Given the description of an element on the screen output the (x, y) to click on. 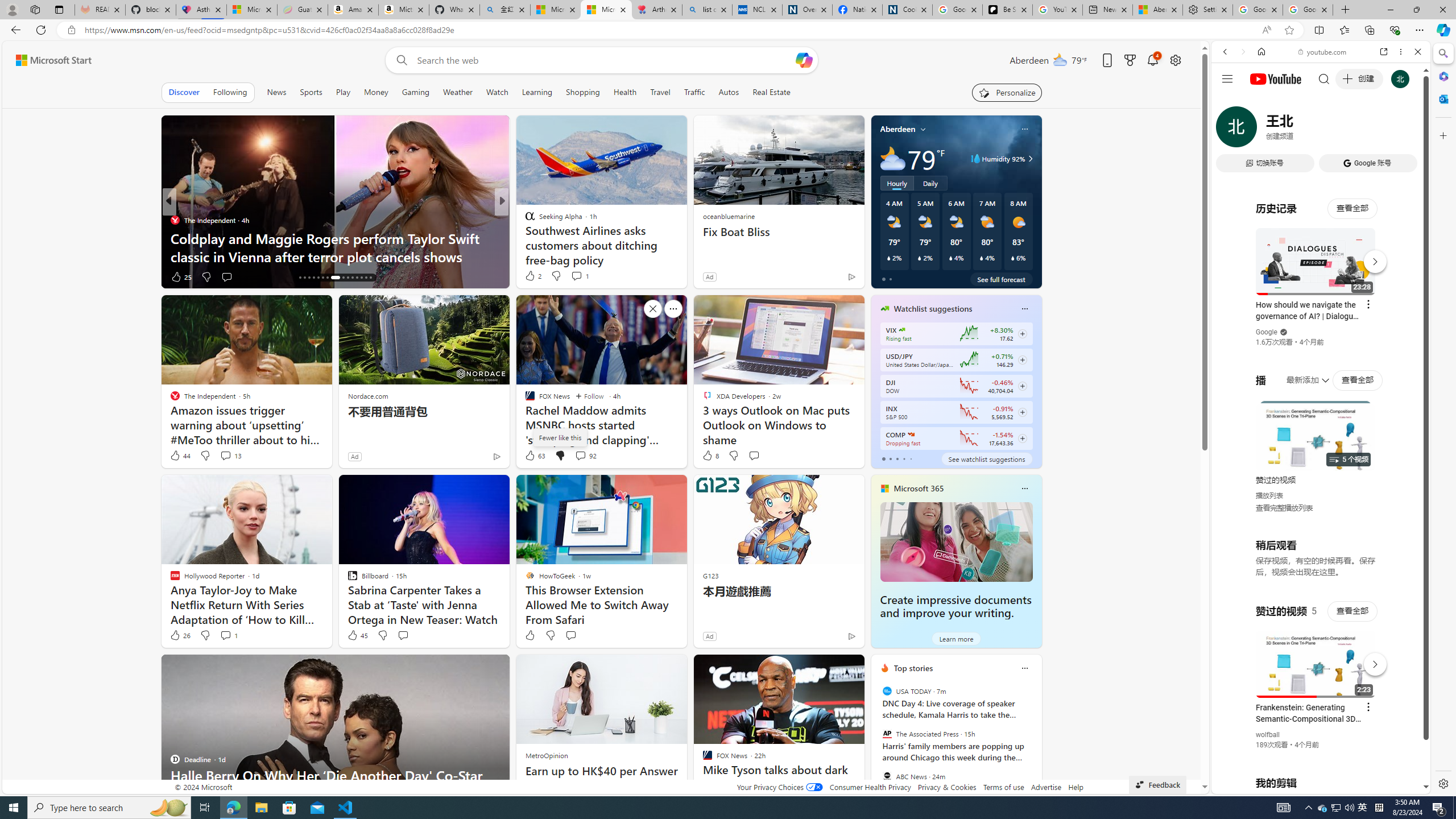
Hide this story (830, 668)
YouTube - YouTube (1315, 560)
Open Copilot (803, 59)
Hourly (896, 183)
Microsoft-Report a Concern to Bing (251, 9)
Help (1075, 786)
Asthma Inhalers: Names and Types (201, 9)
Discover (183, 92)
Start the conversation (570, 634)
Search the web (1326, 78)
AutomationID: tab-21 (322, 277)
